Given the description of an element on the screen output the (x, y) to click on. 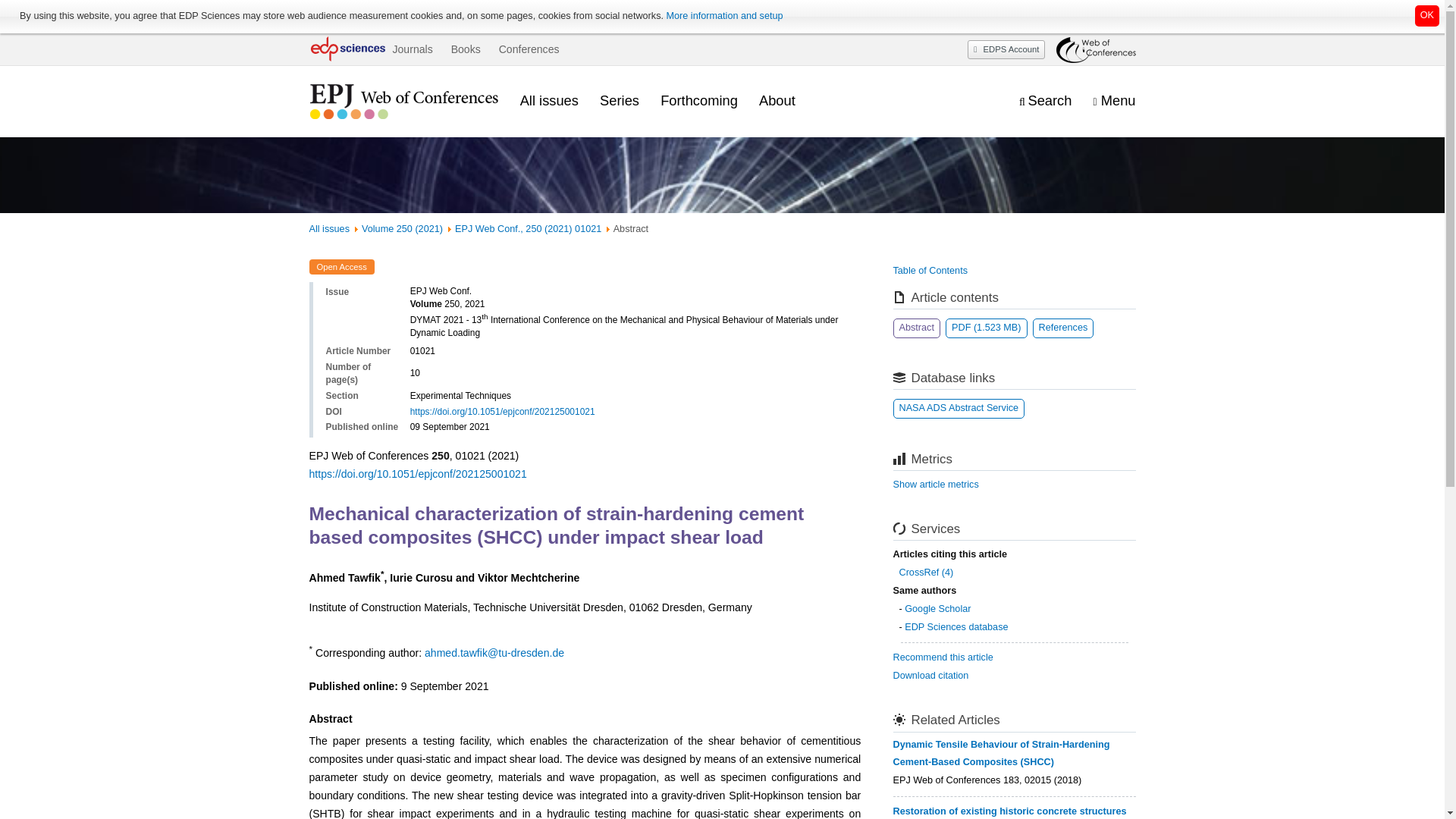
Journal homepage (403, 101)
More information and setup (724, 15)
Journals (411, 49)
Books (465, 49)
OK (1427, 15)
Click to close this notification (1427, 15)
Abstract (916, 328)
Conferences (529, 49)
Display the search engine (1045, 101)
